Given the description of an element on the screen output the (x, y) to click on. 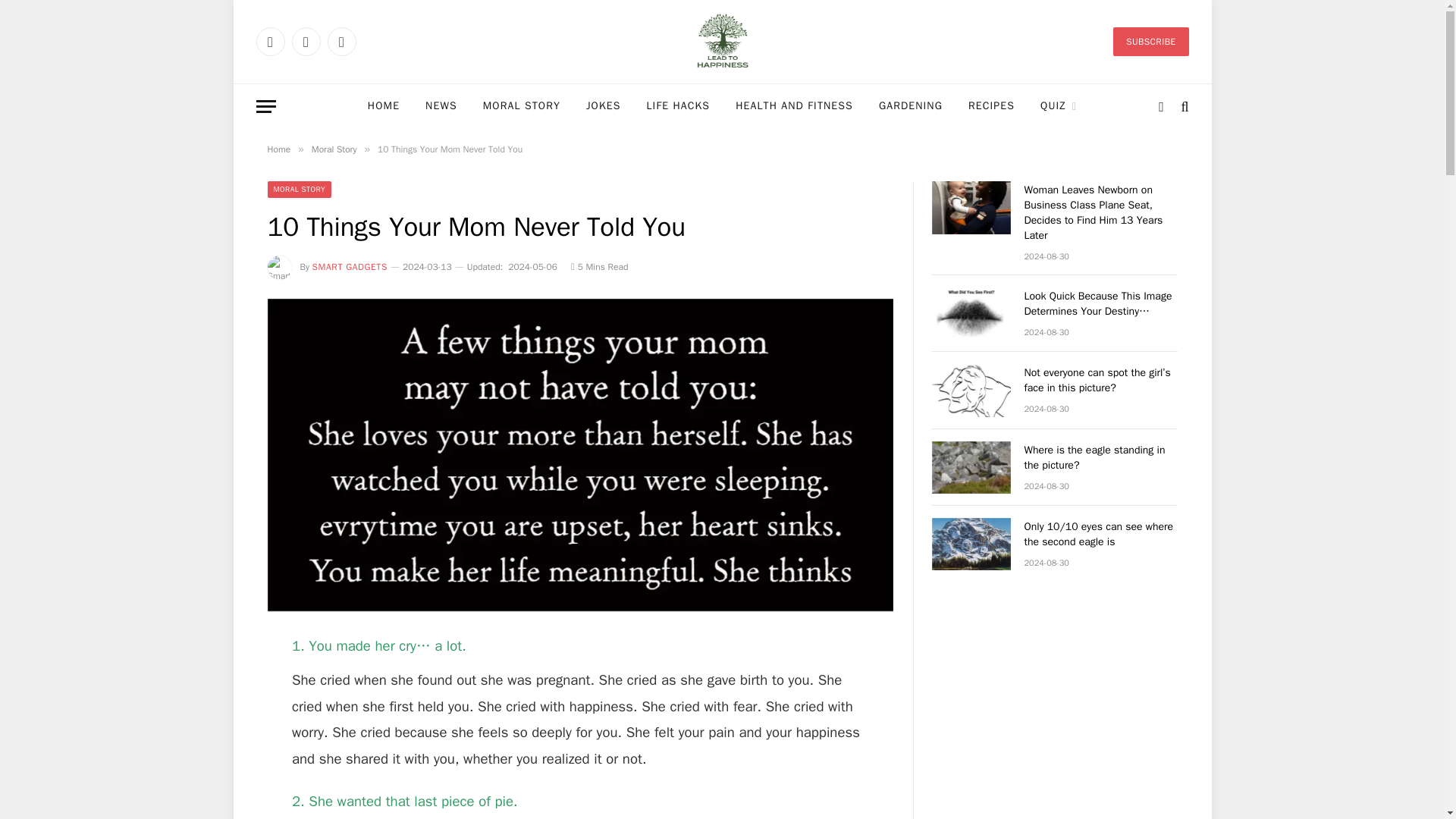
Facebook (270, 41)
Instagram (341, 41)
RECIPES (991, 106)
HOME (383, 106)
QUIZ (1058, 106)
SUBSCRIBE (1150, 41)
Switch to Dark Design - easier on eyes. (1160, 106)
LIFE HACKS (678, 106)
GARDENING (910, 106)
